Given the description of an element on the screen output the (x, y) to click on. 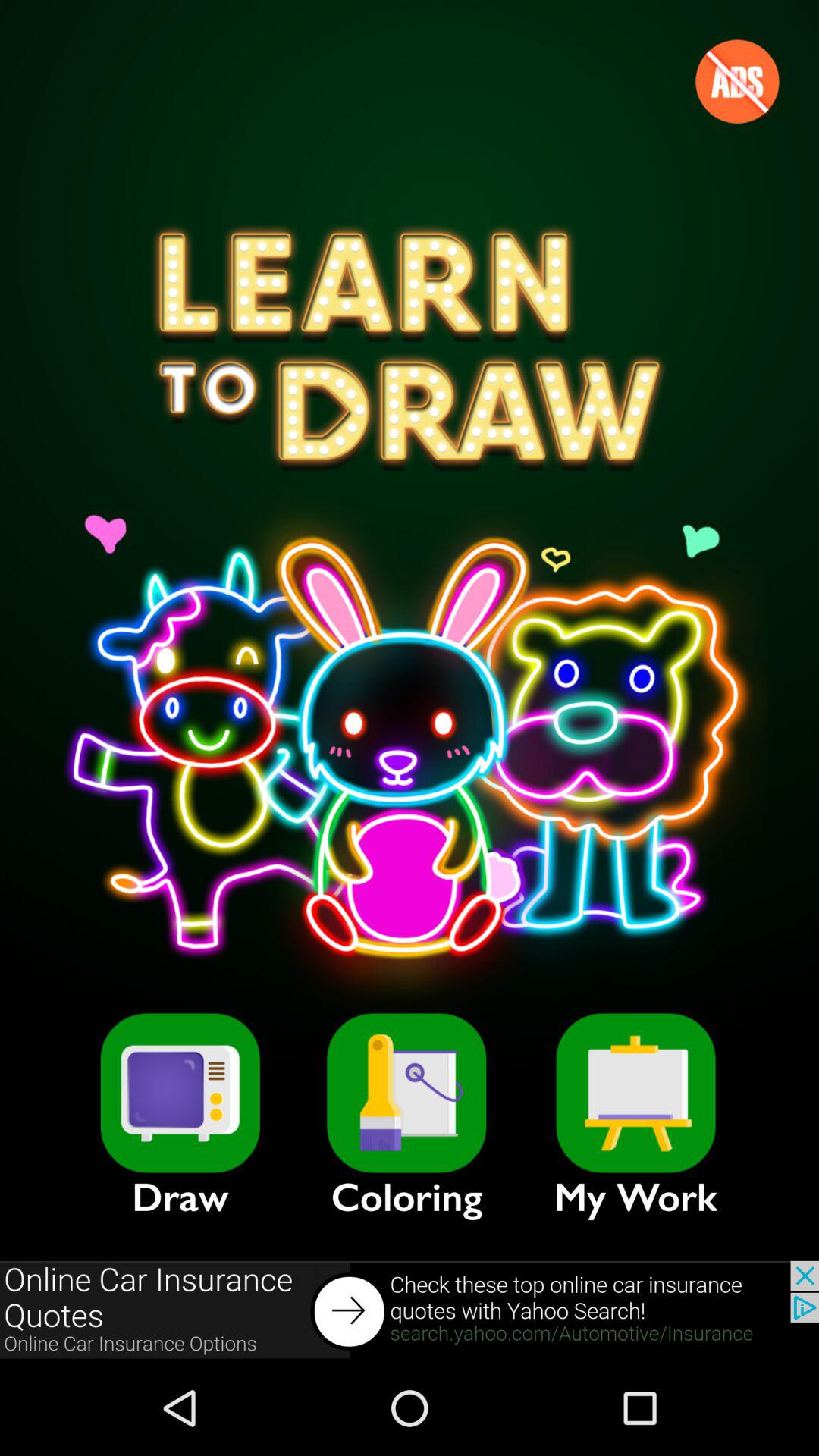
draw (179, 1092)
